Given the description of an element on the screen output the (x, y) to click on. 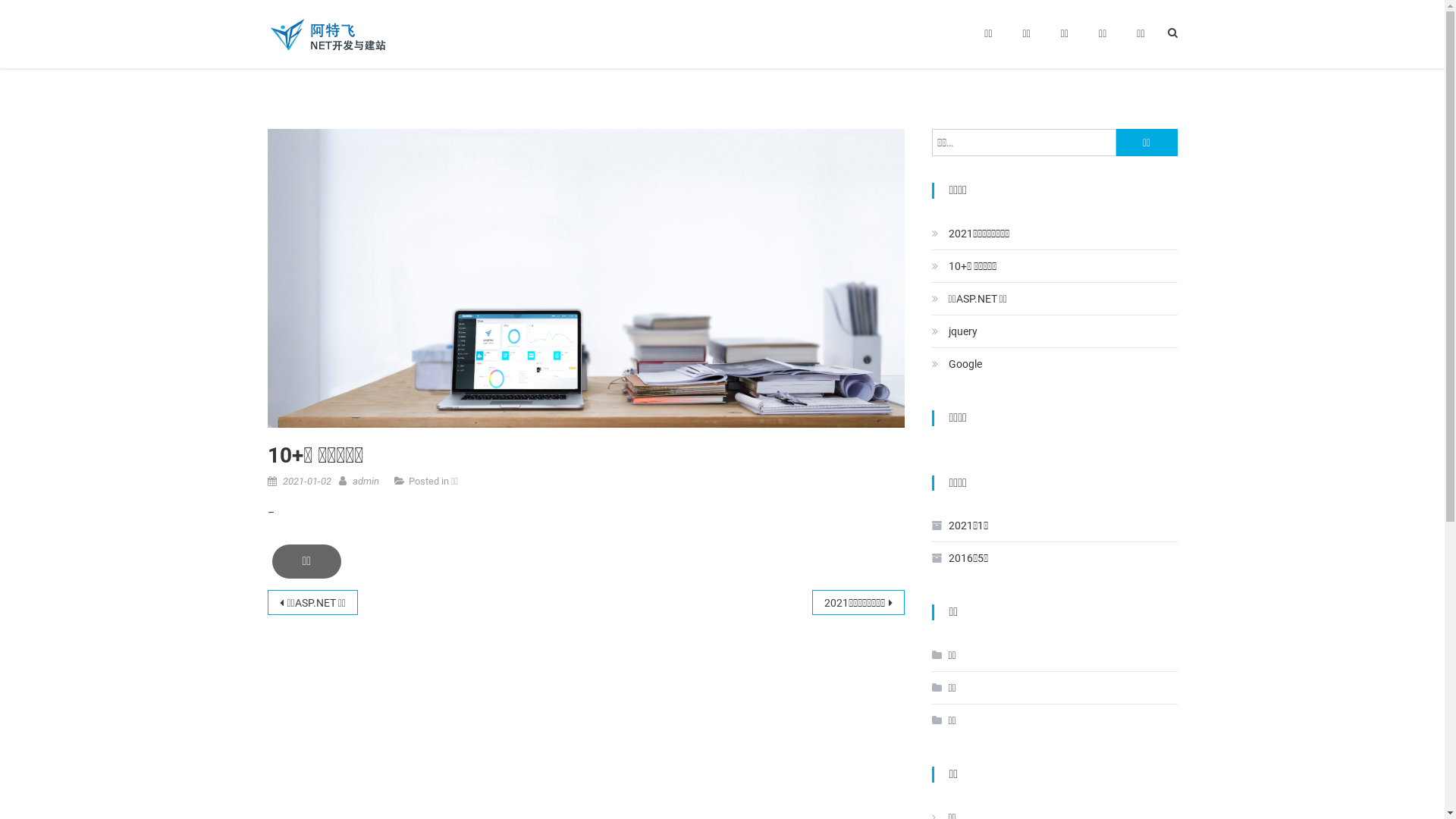
jquery Element type: text (953, 331)
admin Element type: text (364, 480)
2021-01-02 Element type: text (306, 480)
Skip to content Element type: text (35, 9)
Google Element type: text (956, 363)
